Given the description of an element on the screen output the (x, y) to click on. 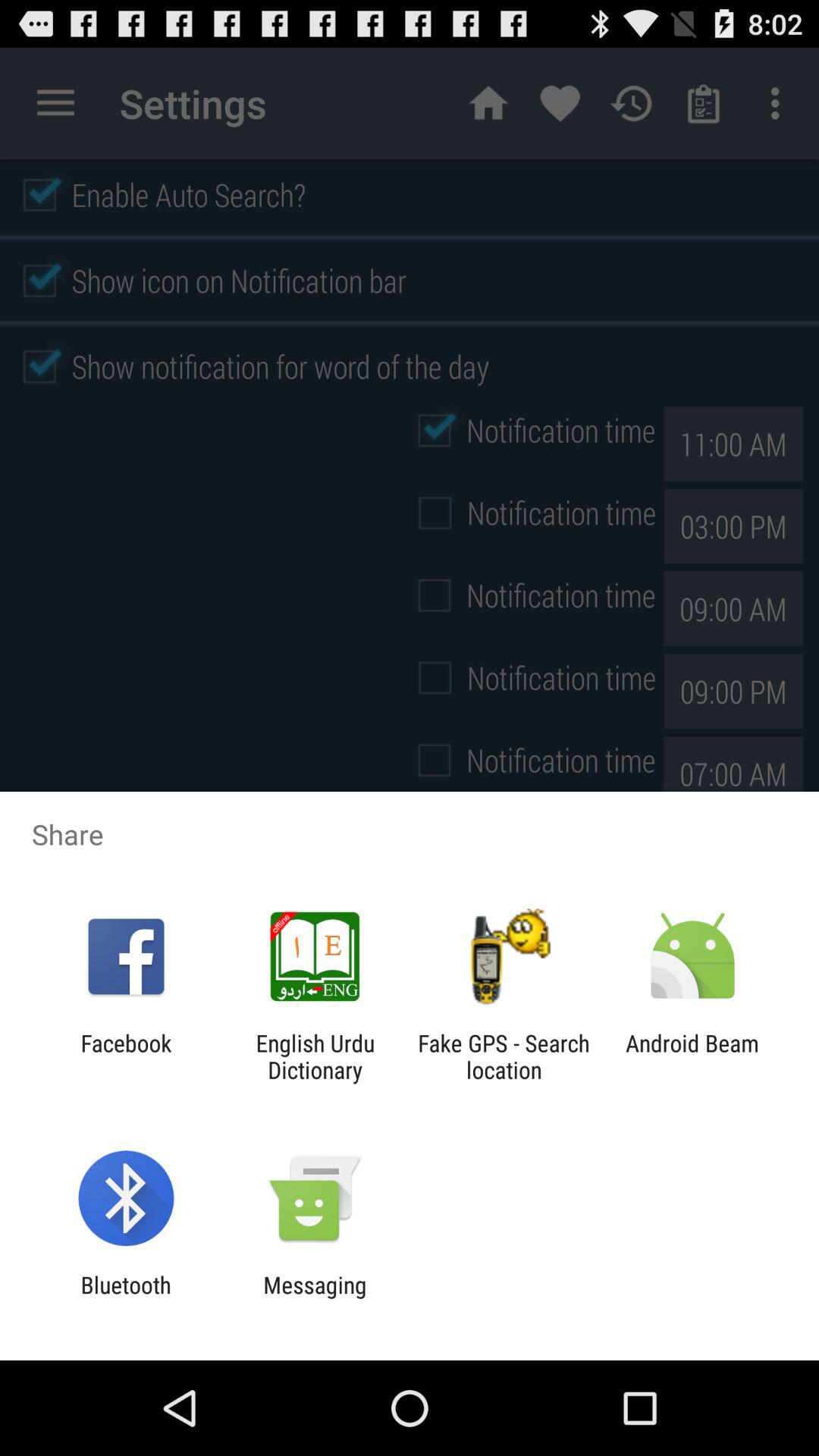
click icon next to english urdu dictionary (503, 1056)
